Given the description of an element on the screen output the (x, y) to click on. 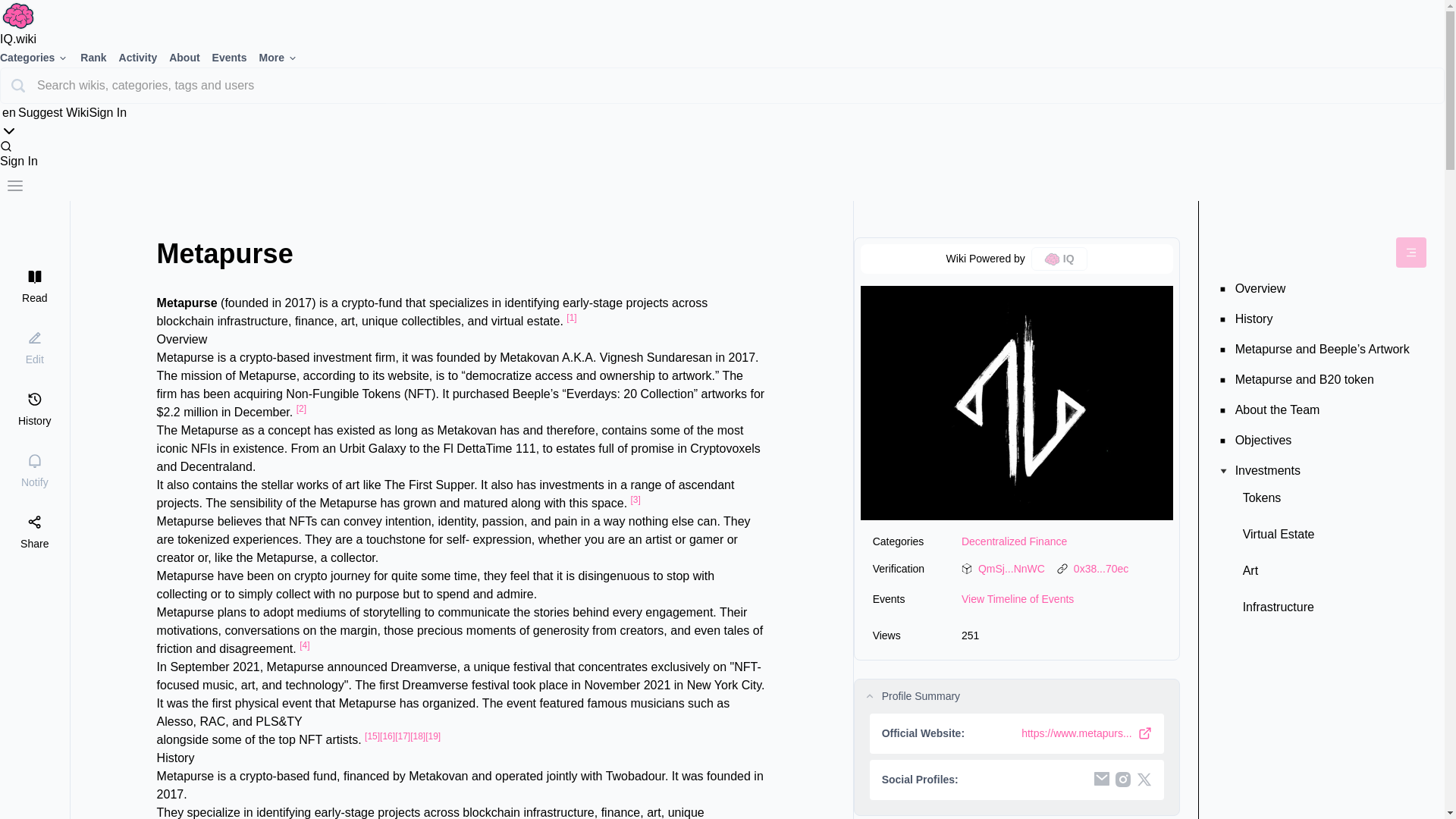
Activity (144, 57)
Categories (40, 57)
More (284, 57)
Suggest Wiki (52, 112)
Sign In (107, 112)
About (189, 57)
Events (235, 57)
Rank (98, 57)
